Given the description of an element on the screen output the (x, y) to click on. 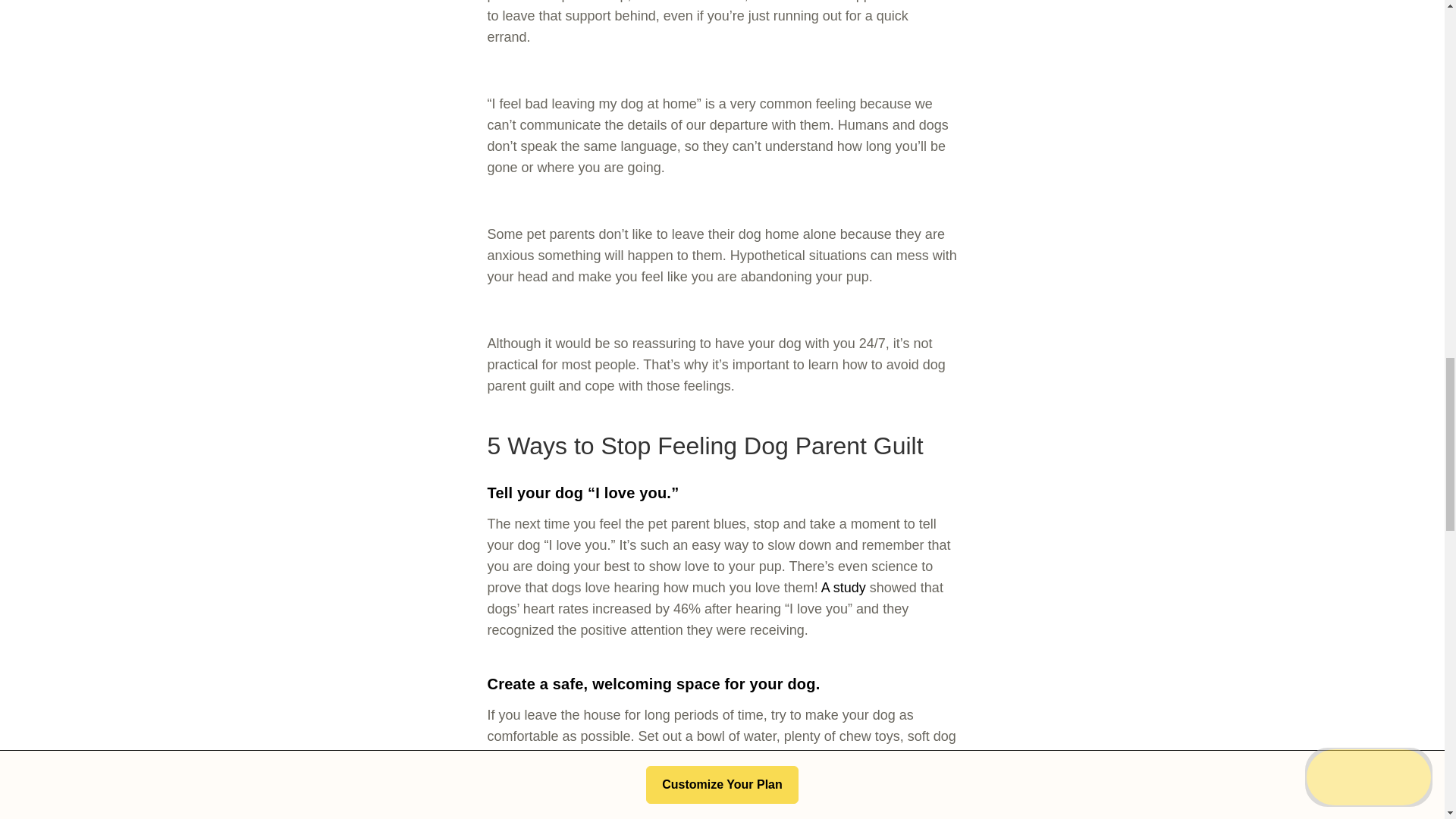
dog organization ideas from a feng shui expert on our blog (695, 789)
A study (843, 587)
